Given the description of an element on the screen output the (x, y) to click on. 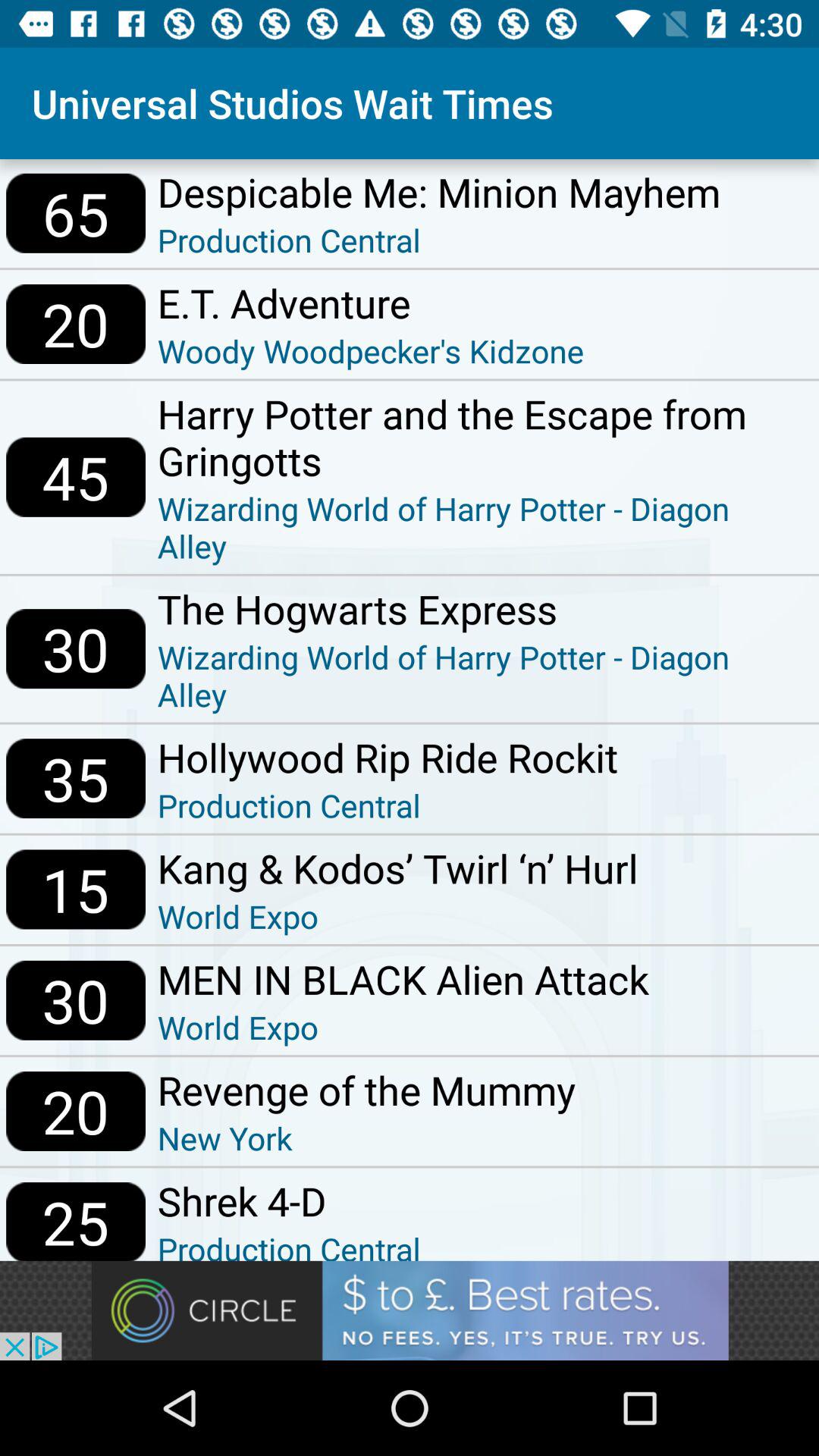
launch woody woodpecker s item (370, 350)
